Given the description of an element on the screen output the (x, y) to click on. 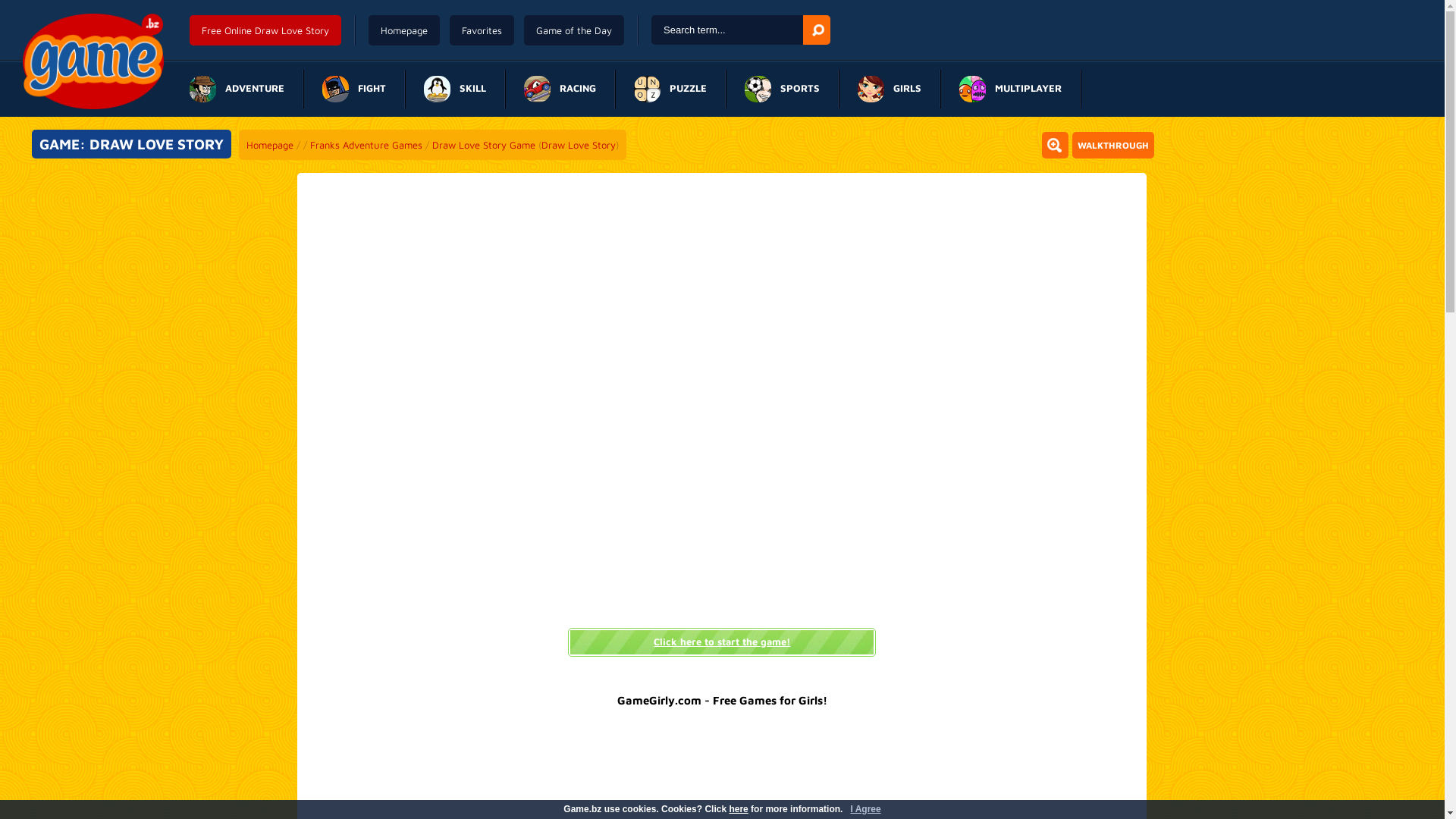
Play your favorite game online right now! Element type: hover (92, 61)
Draw Love Story Game Element type: text (483, 144)
Advertisement Element type: hover (1294, 267)
GameGirly.com - Free Games for Girls! Element type: text (721, 699)
here Element type: text (737, 808)
GIRLS Element type: text (889, 88)
Click here to start the game! Element type: text (721, 641)
Favorites Element type: text (481, 30)
Draw Love Story Element type: text (578, 144)
I Agree Element type: text (865, 808)
Advertisement Element type: hover (149, 267)
Homepage Element type: text (403, 30)
Homepage Element type: text (269, 144)
PUZZLE Element type: text (670, 88)
ADVENTURE Element type: text (237, 88)
SKILL Element type: text (454, 88)
Game of the Day Element type: text (574, 30)
RACING Element type: text (560, 88)
Search term... Element type: text (727, 29)
Franks Adventure Games Element type: text (366, 144)
SPORTS Element type: text (781, 88)
MULTIPLAYER Element type: text (1010, 88)
FIGHT Element type: text (353, 88)
WALKTHROUGH Element type: text (1113, 144)
